Given the description of an element on the screen output the (x, y) to click on. 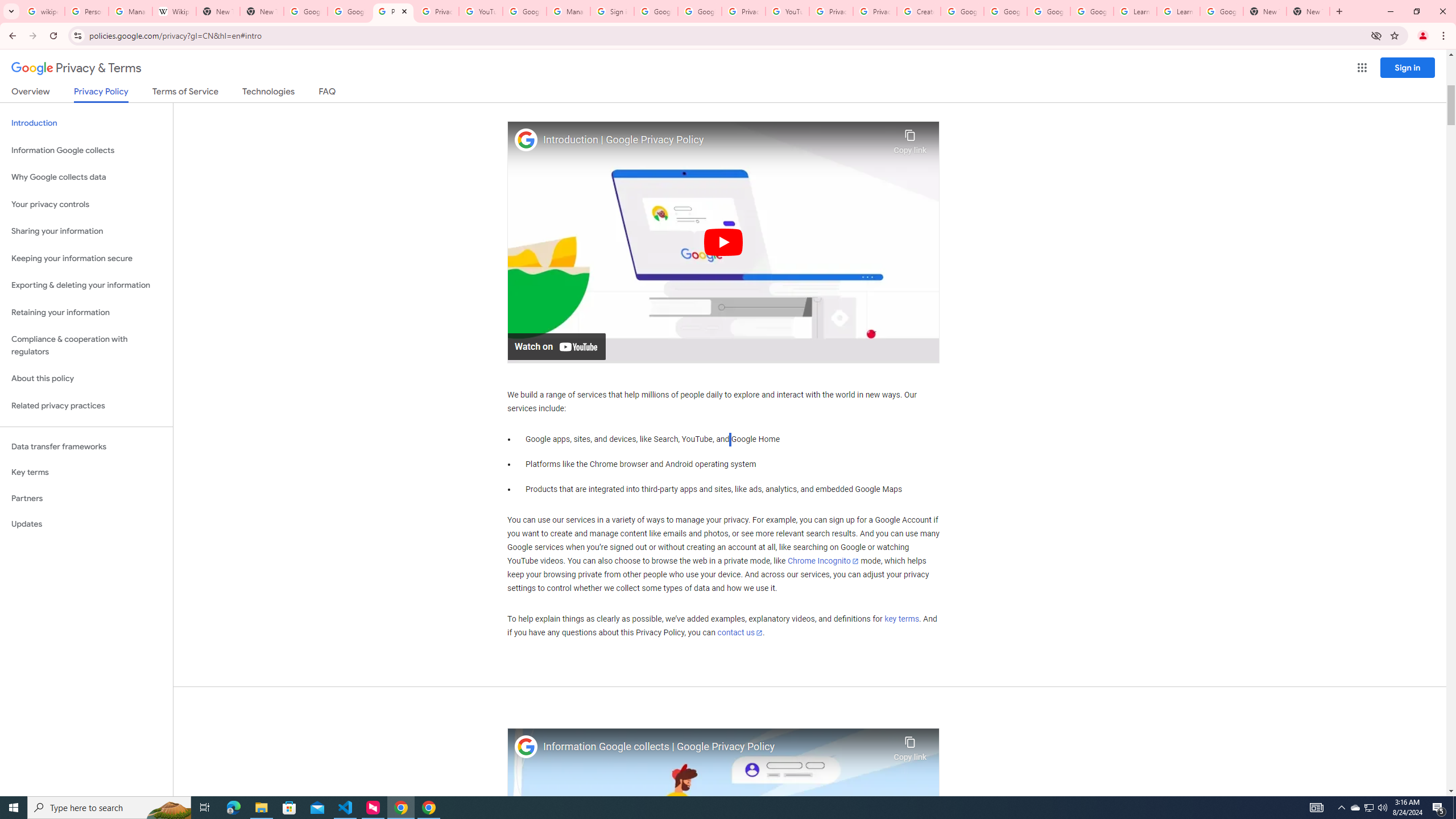
Introduction | Google Privacy Policy (715, 139)
Google Account Help (524, 11)
Why Google collects data (86, 176)
New Tab (1308, 11)
Watch on YouTube (556, 346)
Retaining your information (86, 312)
